Given the description of an element on the screen output the (x, y) to click on. 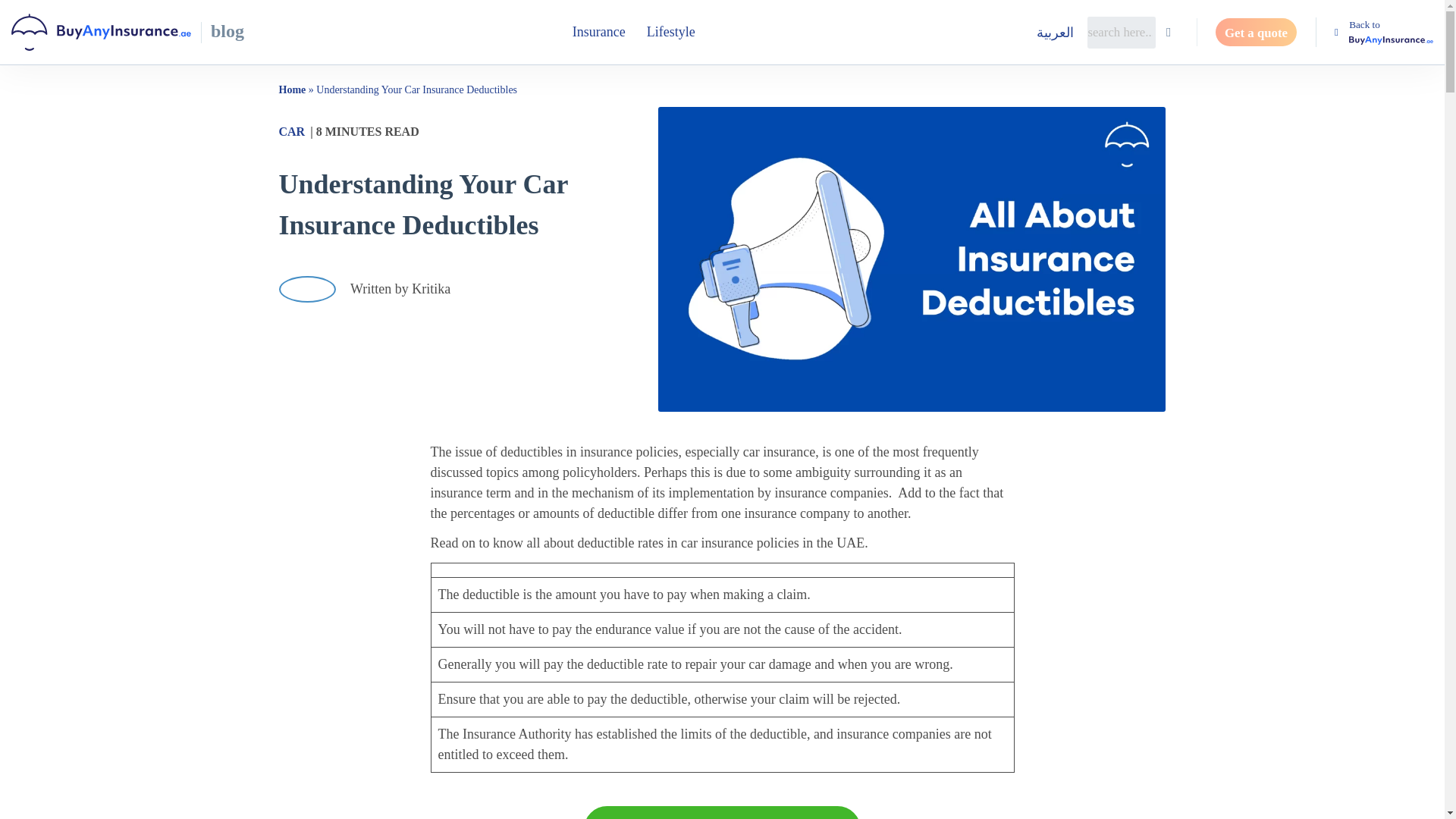
Get a quote (1256, 31)
Insurance (599, 32)
CAR (292, 131)
Home (292, 89)
Lifestyle (671, 32)
Back to (1383, 32)
